Given the description of an element on the screen output the (x, y) to click on. 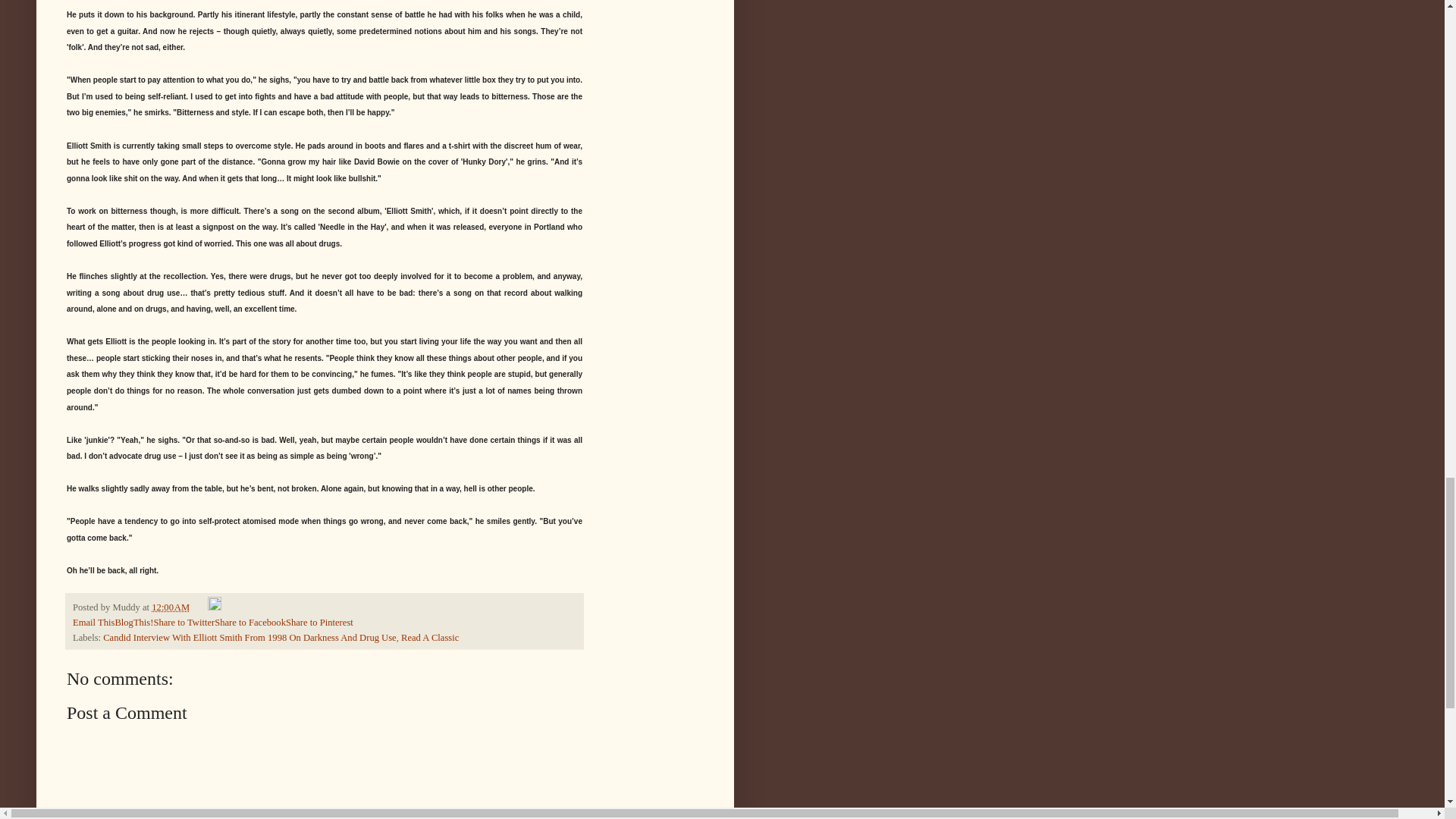
Share to Facebook (249, 622)
Share to Pinterest (319, 622)
Edit Post (214, 606)
Share to Twitter (183, 622)
Share to Facebook (249, 622)
Email This (93, 622)
Email Post (200, 606)
BlogThis! (133, 622)
